Given the description of an element on the screen output the (x, y) to click on. 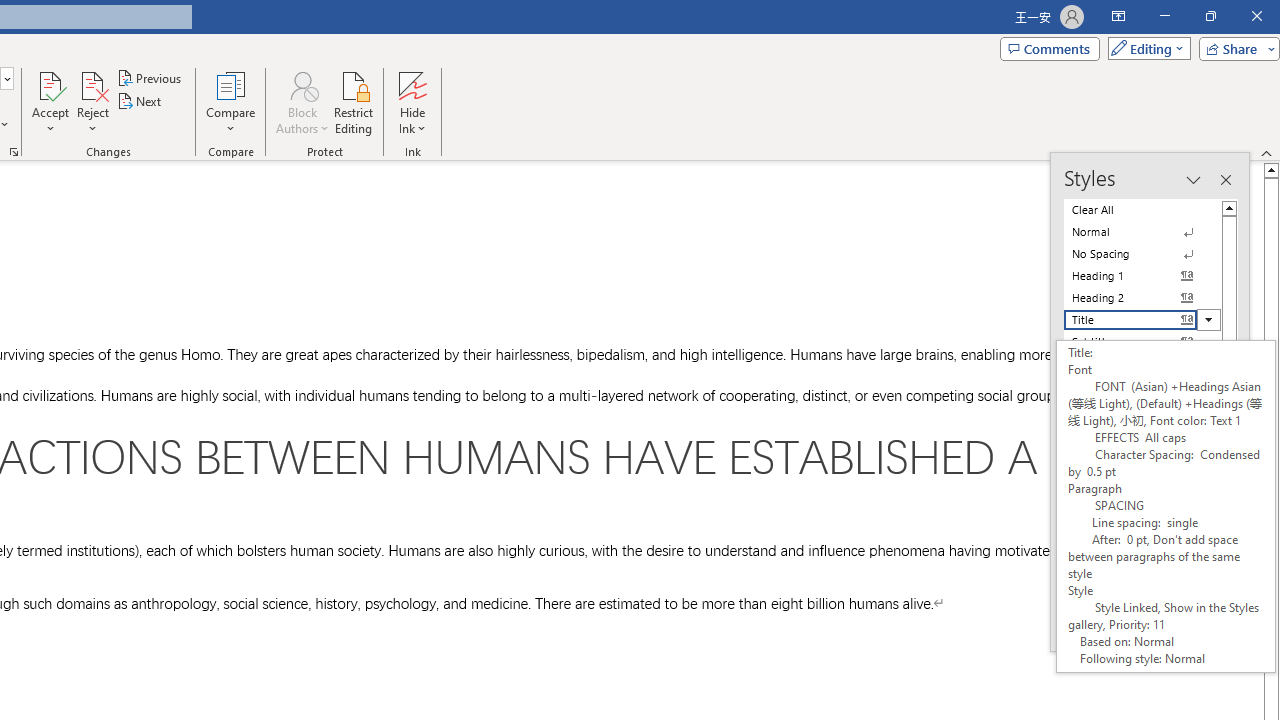
Compare (230, 102)
Accept (50, 102)
